Given the description of an element on the screen output the (x, y) to click on. 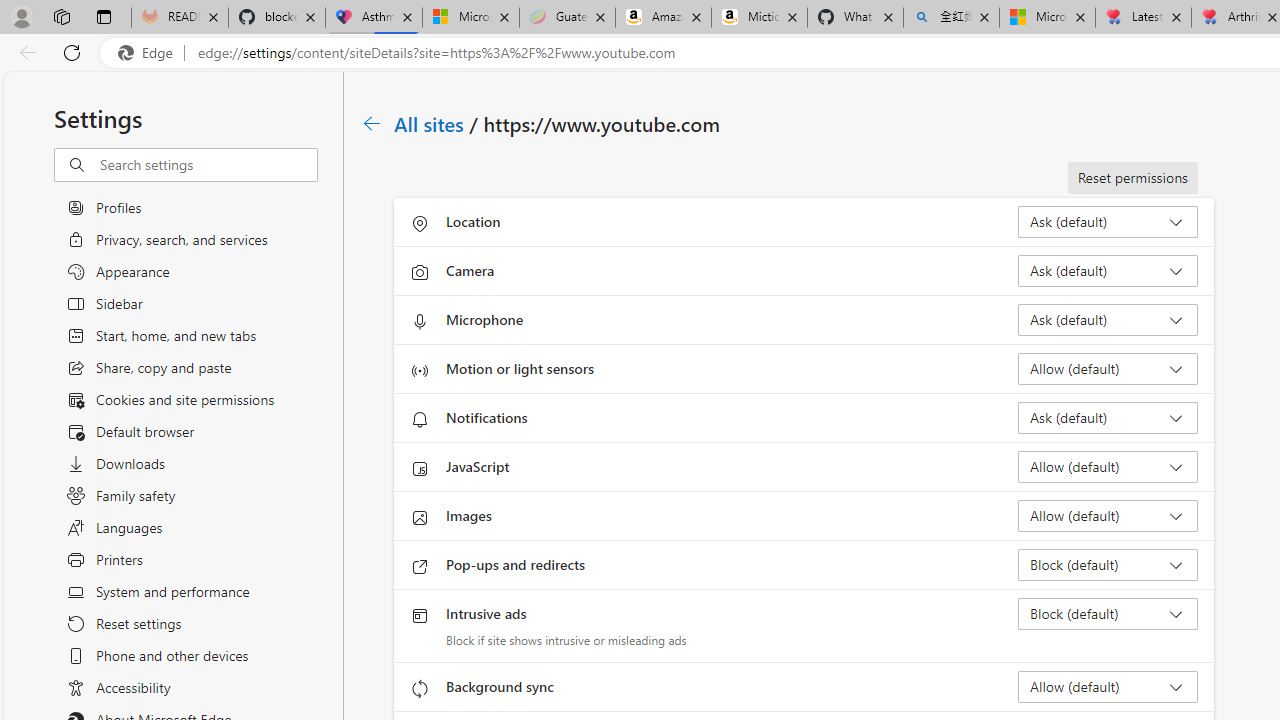
Pop-ups and redirects Block (default) (1107, 564)
